Given the description of an element on the screen output the (x, y) to click on. 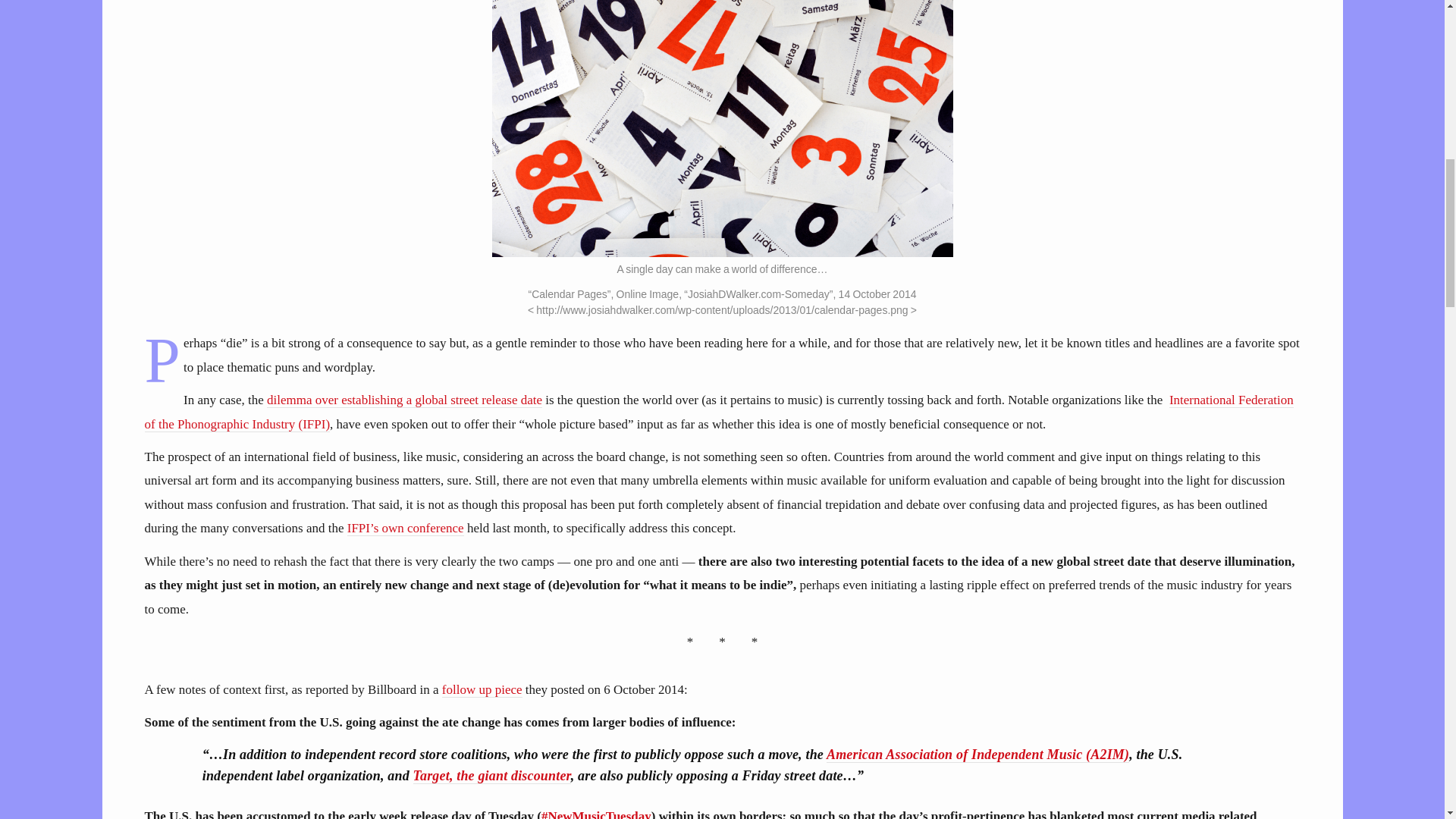
Target, the giant discounter (491, 775)
dilemma over establishing a global street release date (403, 400)
follow up piece (482, 689)
